Given the description of an element on the screen output the (x, y) to click on. 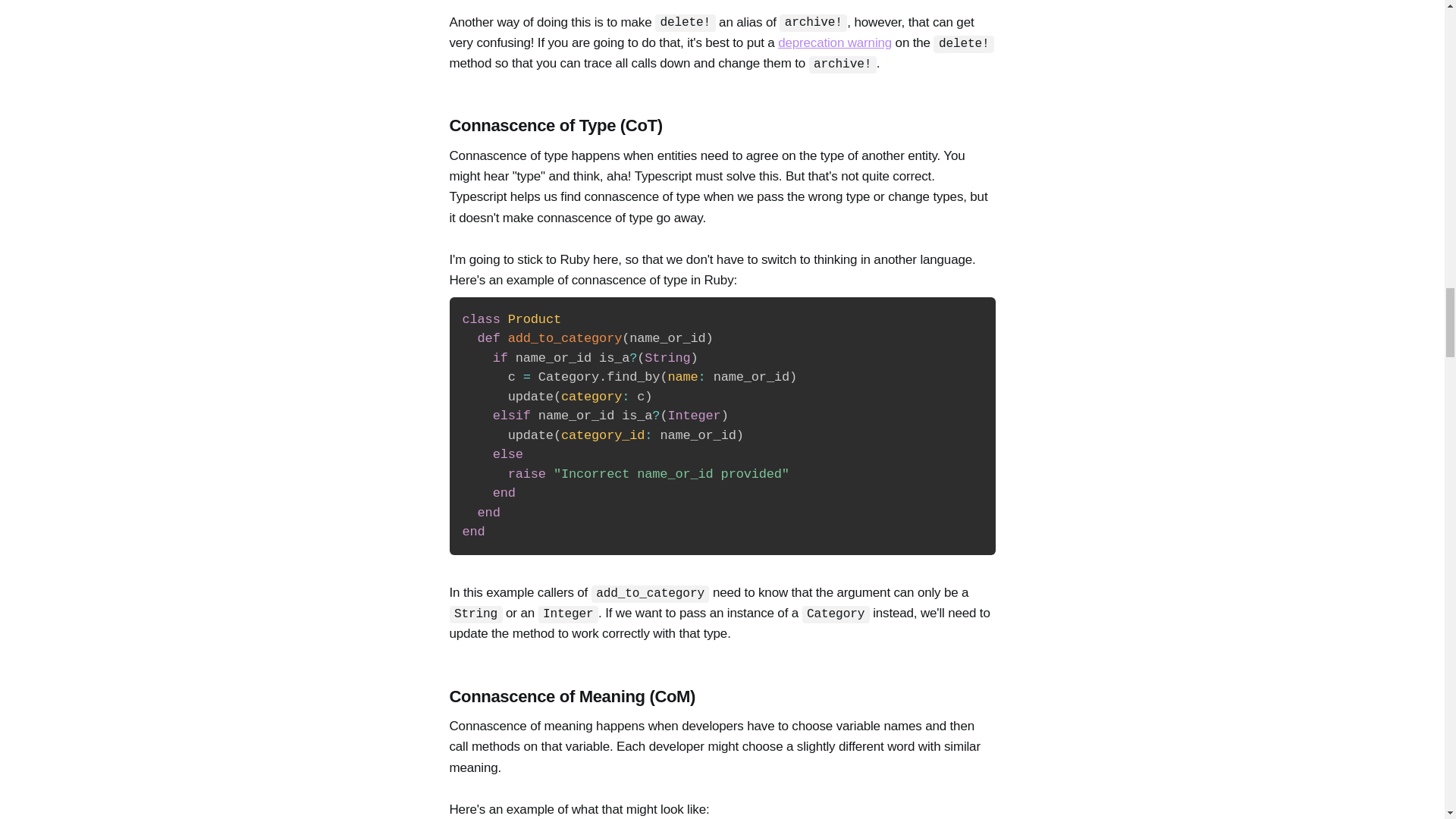
deprecation warning (834, 42)
